Given the description of an element on the screen output the (x, y) to click on. 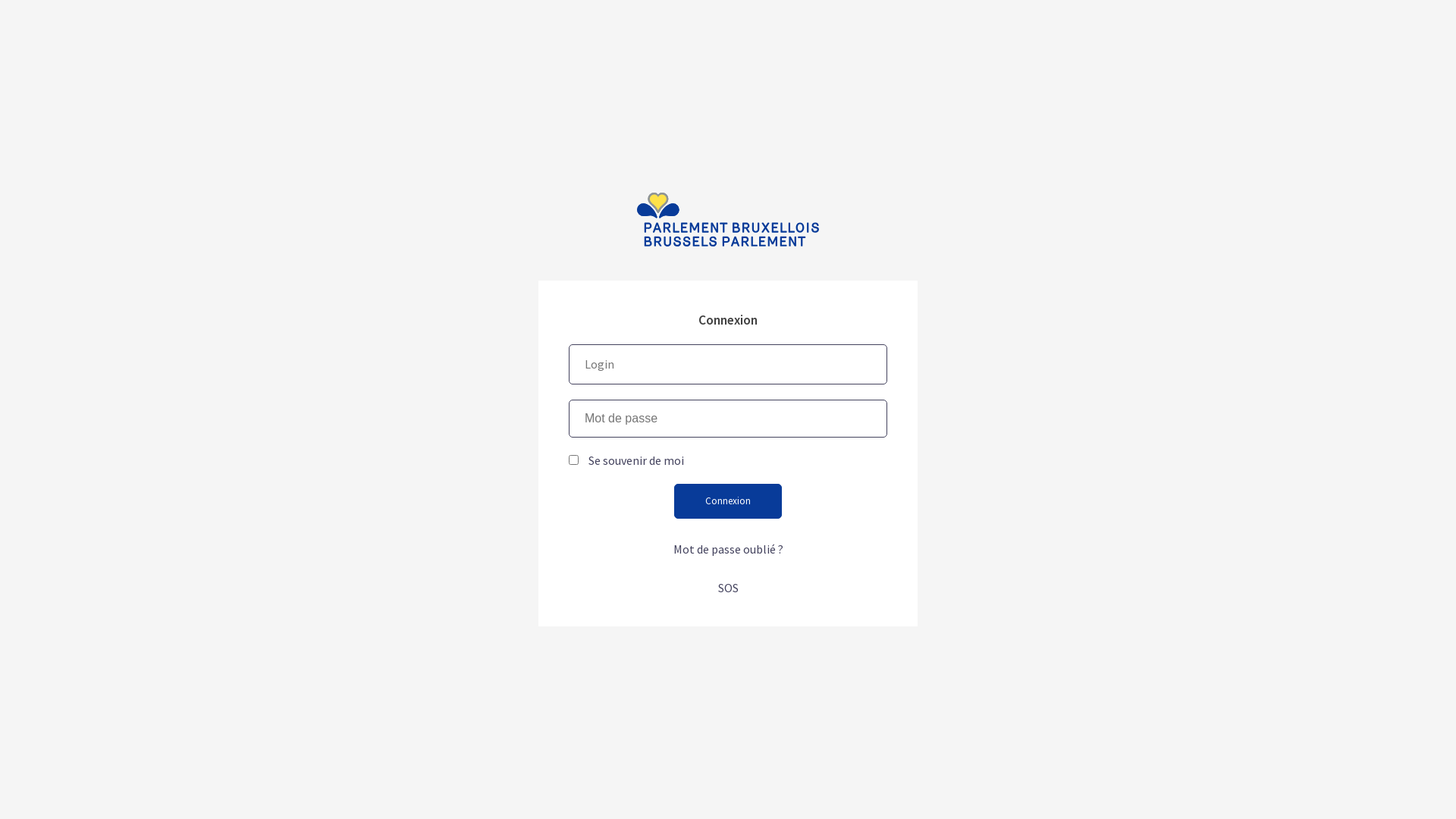
SOS Element type: text (727, 588)
Connexion Element type: text (727, 500)
